Given the description of an element on the screen output the (x, y) to click on. 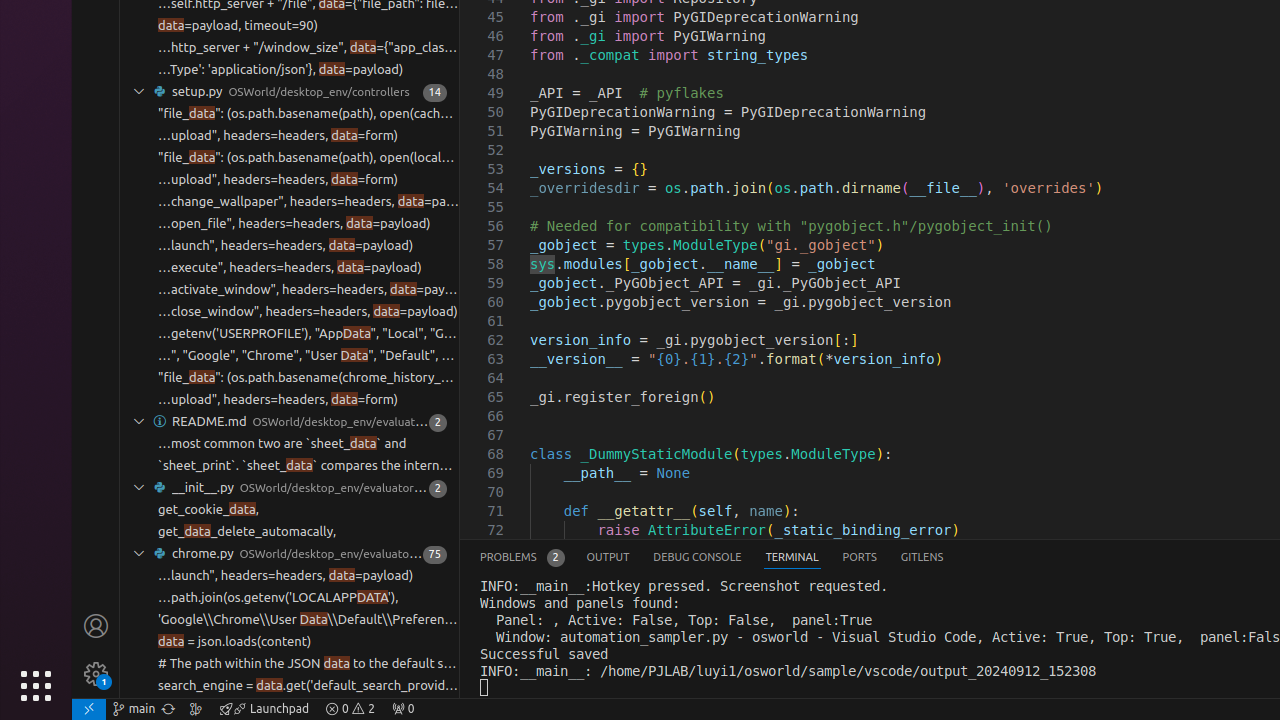
'`sheet_print`. `sheet_data` compares the internal cell values through pandoc,' at column 23 found data Element type: tree-item (289, 465)
' response = requests.post(self.http_server + "/setup" + "/change_wallpaper", headers=headers, data=payload)' at column 106 found data Element type: tree-item (289, 201)
…('default_search_provider_data', {}).get('template_url_data', {}).get('short_name', Element type: link (308, 707)
get_cookie_data, Element type: link (209, 509)
data = json.loads(content) Element type: link (235, 641)
